Given the description of an element on the screen output the (x, y) to click on. 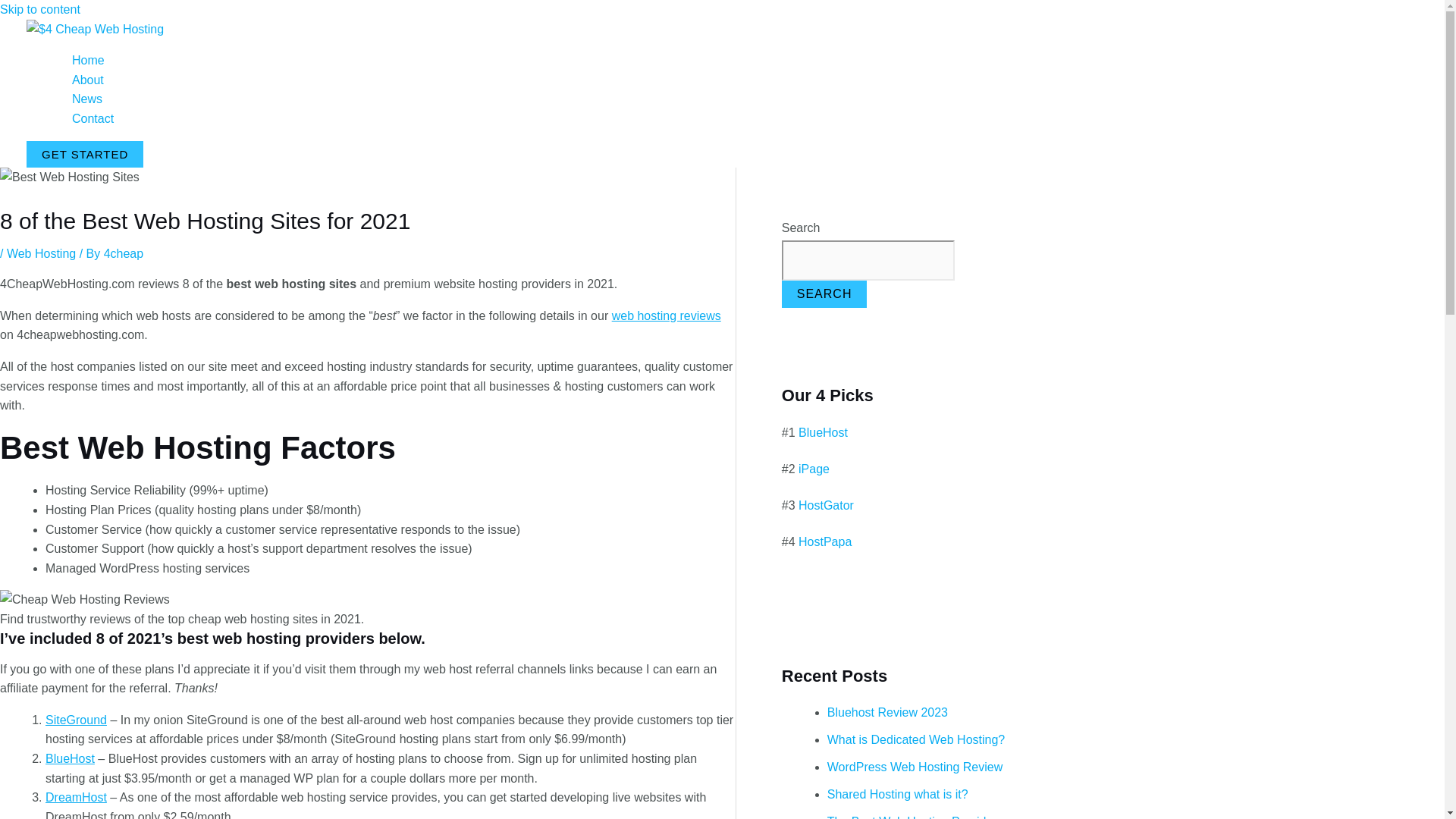
DreamHost (75, 797)
News (92, 98)
iPage (813, 468)
Contact (92, 118)
Skip to content (40, 9)
BlueHost (822, 431)
HostGator (825, 504)
web hosting reviews (665, 315)
What is Dedicated Web Hosting? (915, 739)
BlueHost (69, 758)
